Given the description of an element on the screen output the (x, y) to click on. 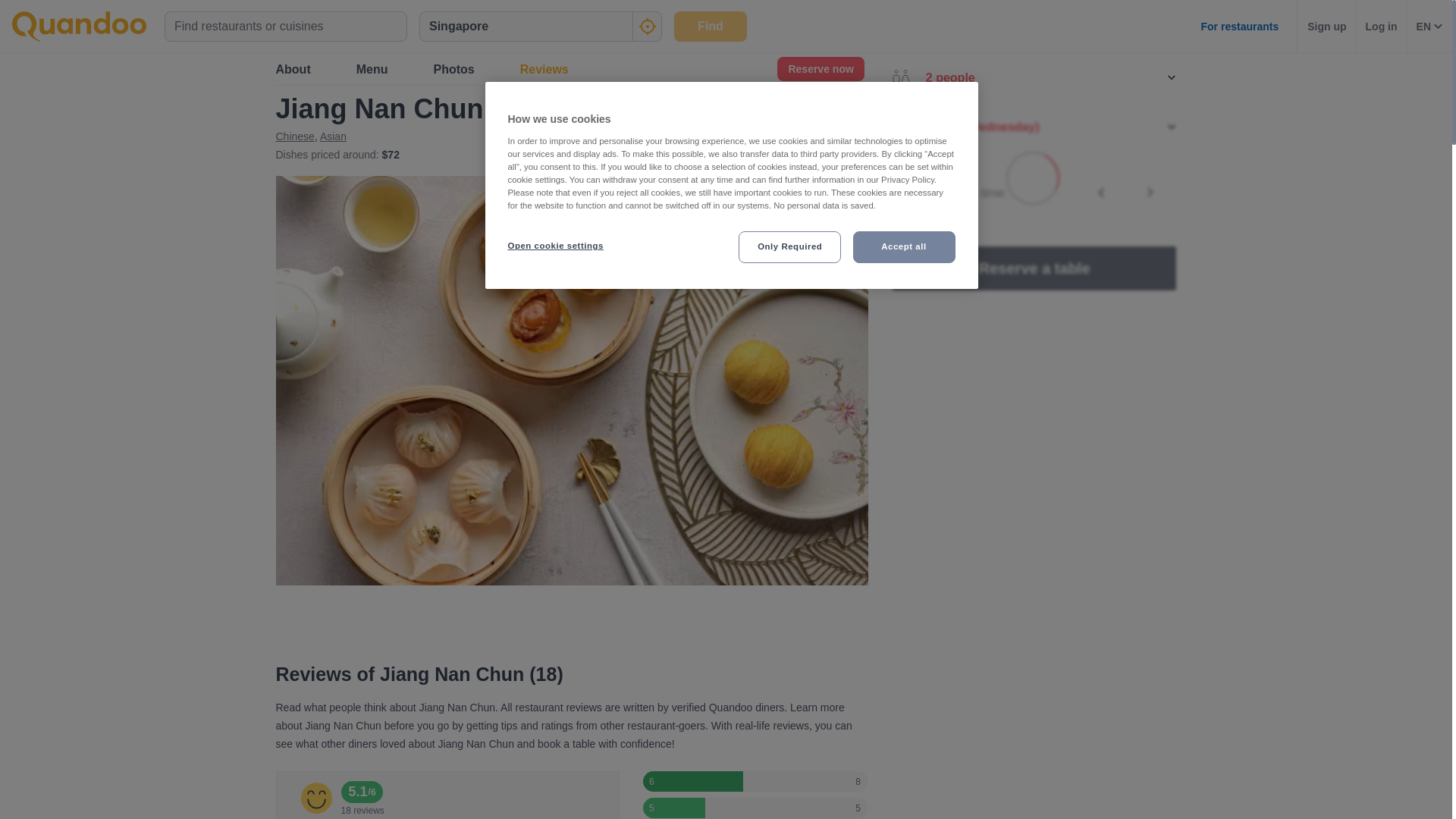
Chinese (295, 136)
Sign up (1326, 25)
Reserve now (820, 68)
Menu (372, 69)
Photos (453, 69)
Singapore (360, 68)
Asian (333, 136)
Find (710, 25)
Jiang Nan Chun (479, 68)
18 reviews (841, 122)
For restaurants (1239, 25)
Log in (1381, 25)
Reviews (544, 69)
Restaurants (300, 68)
Orchard (413, 68)
